Given the description of an element on the screen output the (x, y) to click on. 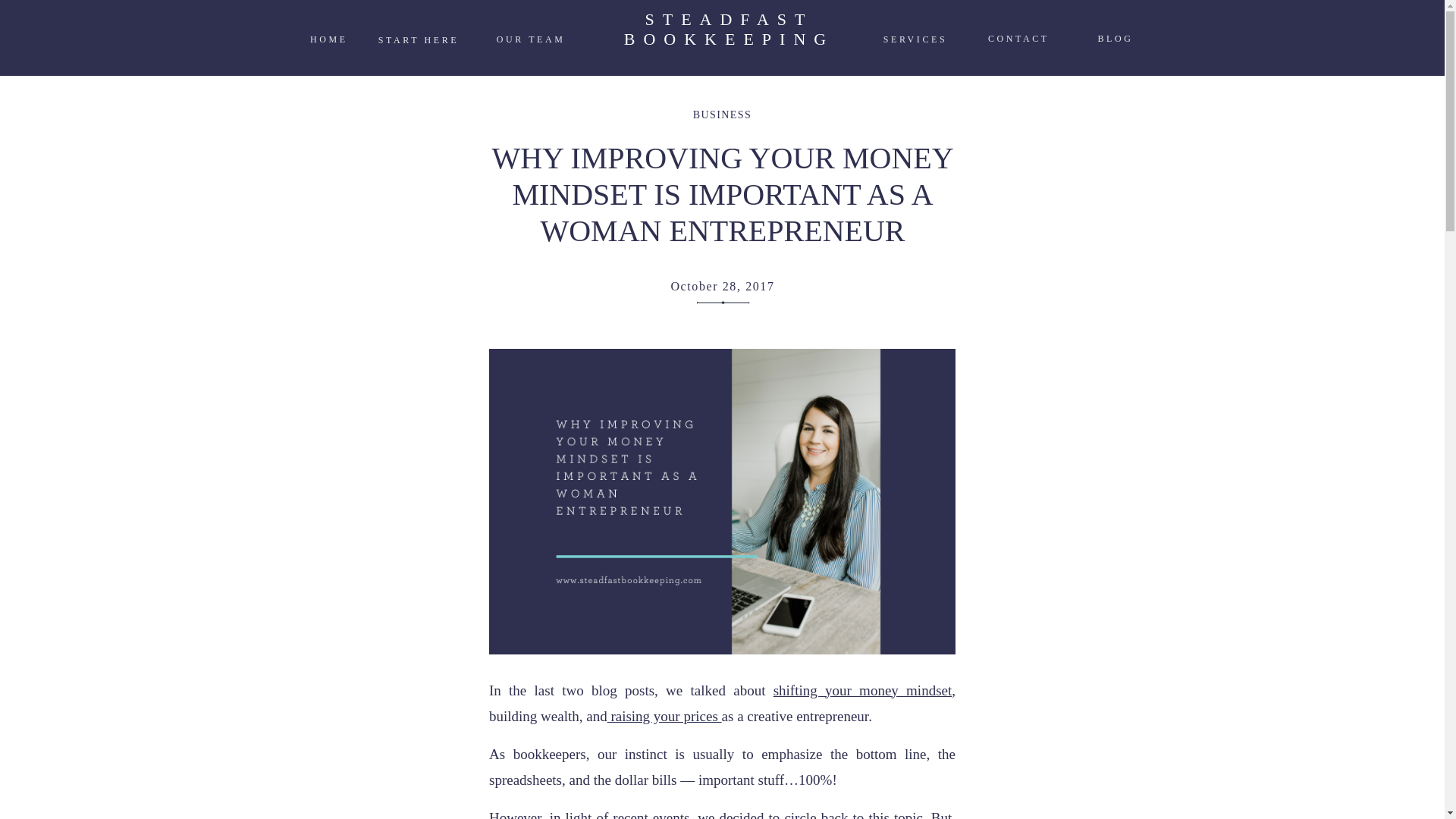
CONTACT (1018, 37)
BUSINESS (722, 114)
recent events (650, 814)
OUR TEAM (530, 38)
BLOG (1115, 37)
HOME (328, 37)
SERVICES (915, 38)
shifting your money mindset (729, 37)
START HERE (862, 690)
raising your prices (417, 38)
